Given the description of an element on the screen output the (x, y) to click on. 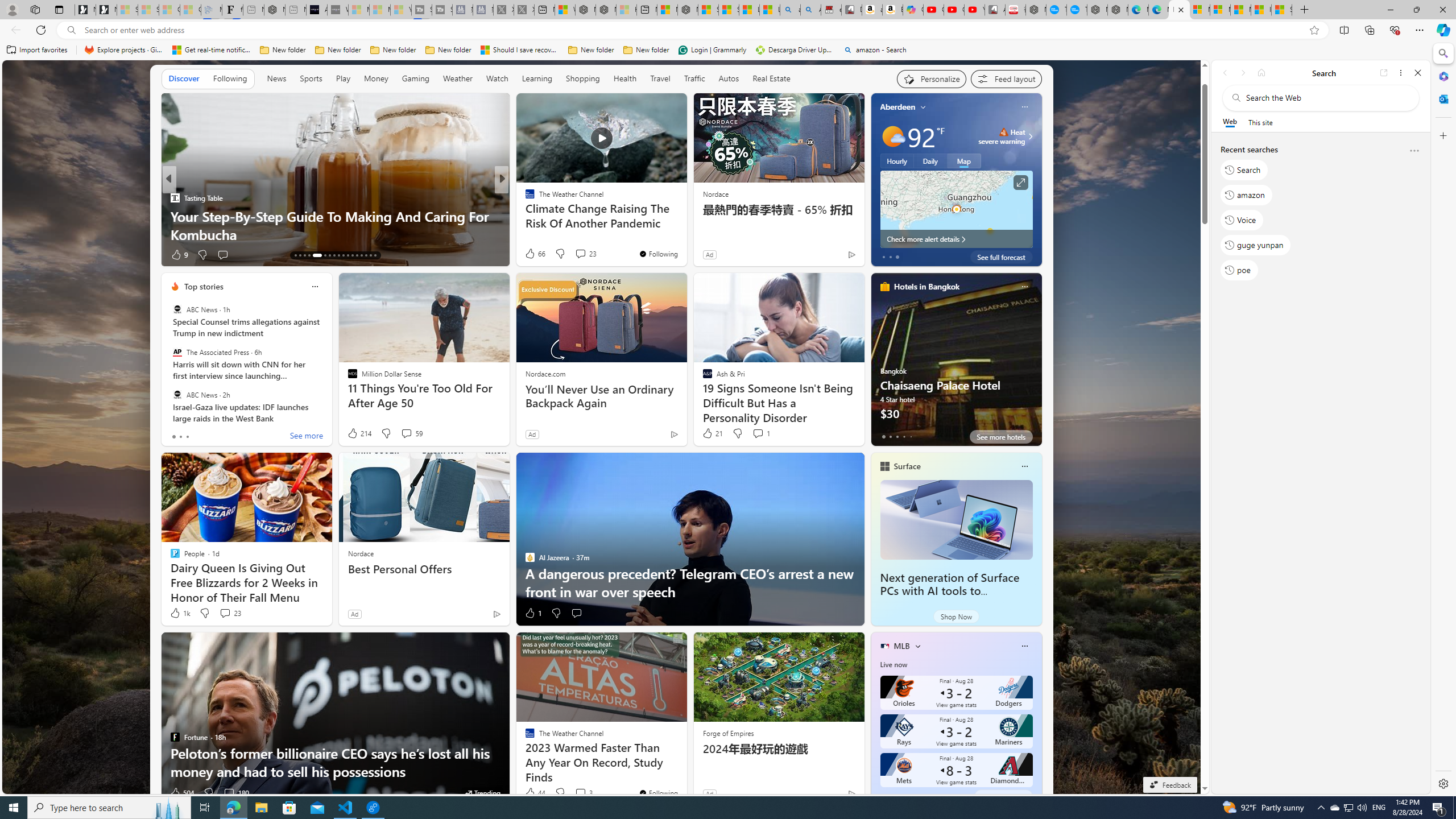
Top stories (203, 286)
Hourly (896, 160)
20 Like (530, 254)
AutomationID: tab-52 (374, 255)
Fall Outlook: Hotter Than Average For Most of the US (684, 225)
Check more alert details (955, 239)
Daily (929, 160)
Cents + Purpose (524, 215)
